Given the description of an element on the screen output the (x, y) to click on. 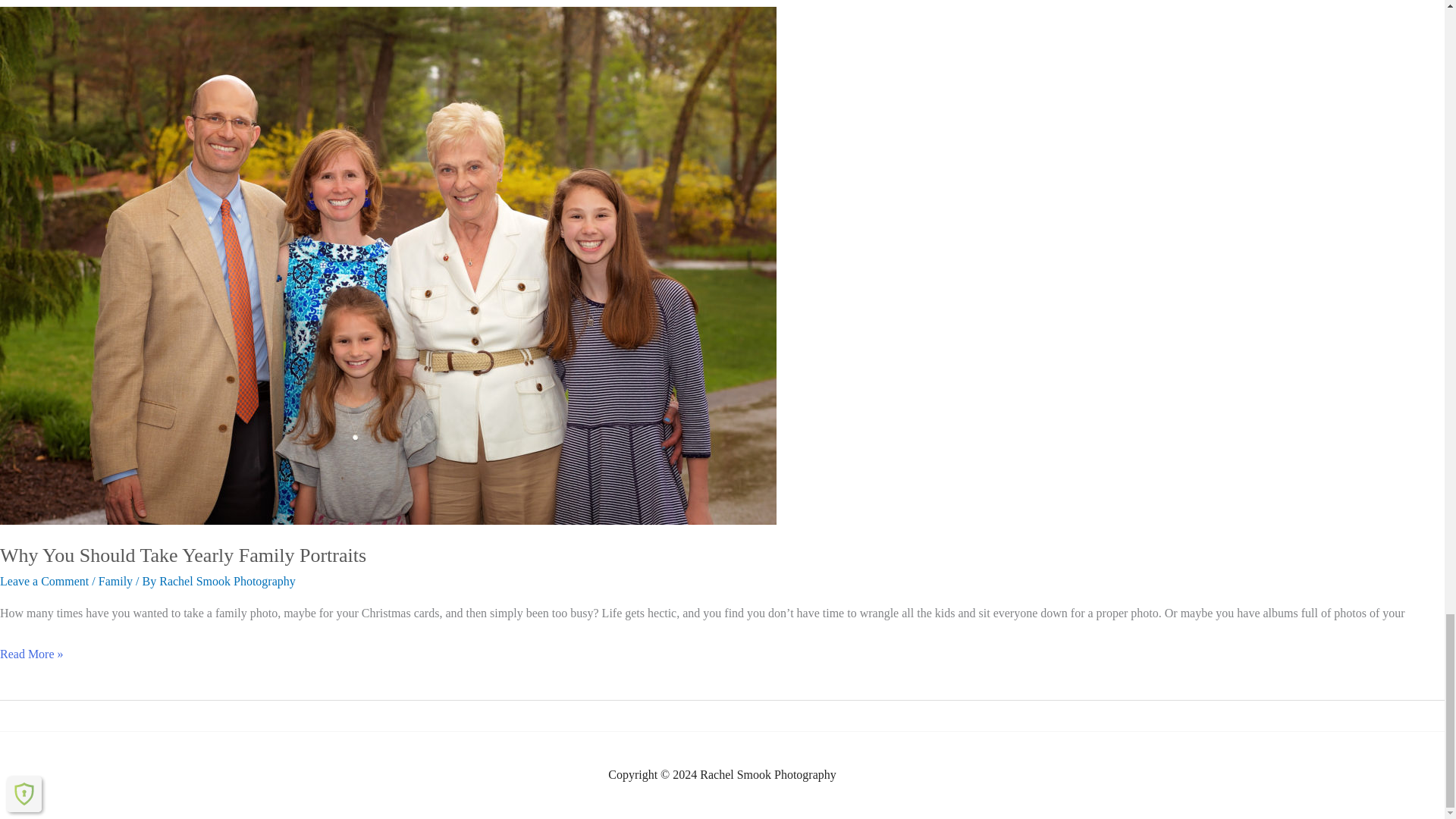
Why You Should Take Yearly Family Portraits (183, 555)
Leave a Comment (44, 581)
Family (115, 581)
Rachel Smook Photography (226, 581)
View all posts by Rachel Smook Photography (226, 581)
